Given the description of an element on the screen output the (x, y) to click on. 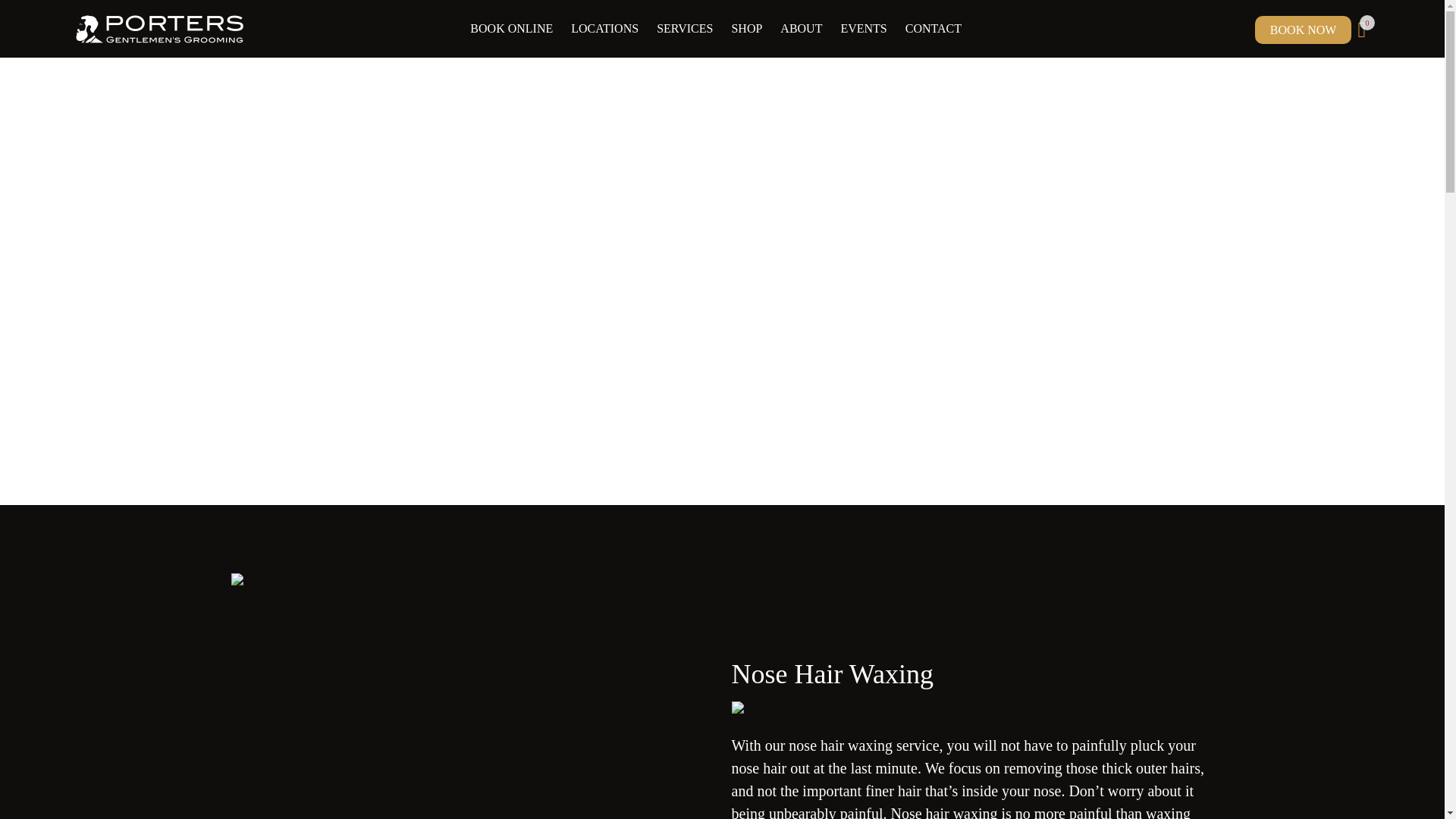
SERVICES (684, 28)
LOCATIONS (604, 28)
BOOK ONLINE (511, 28)
ABOUT (801, 28)
SHOP (746, 28)
CONTACT (933, 28)
BOOK NOW (1303, 29)
EVENTS (863, 28)
